Given the description of an element on the screen output the (x, y) to click on. 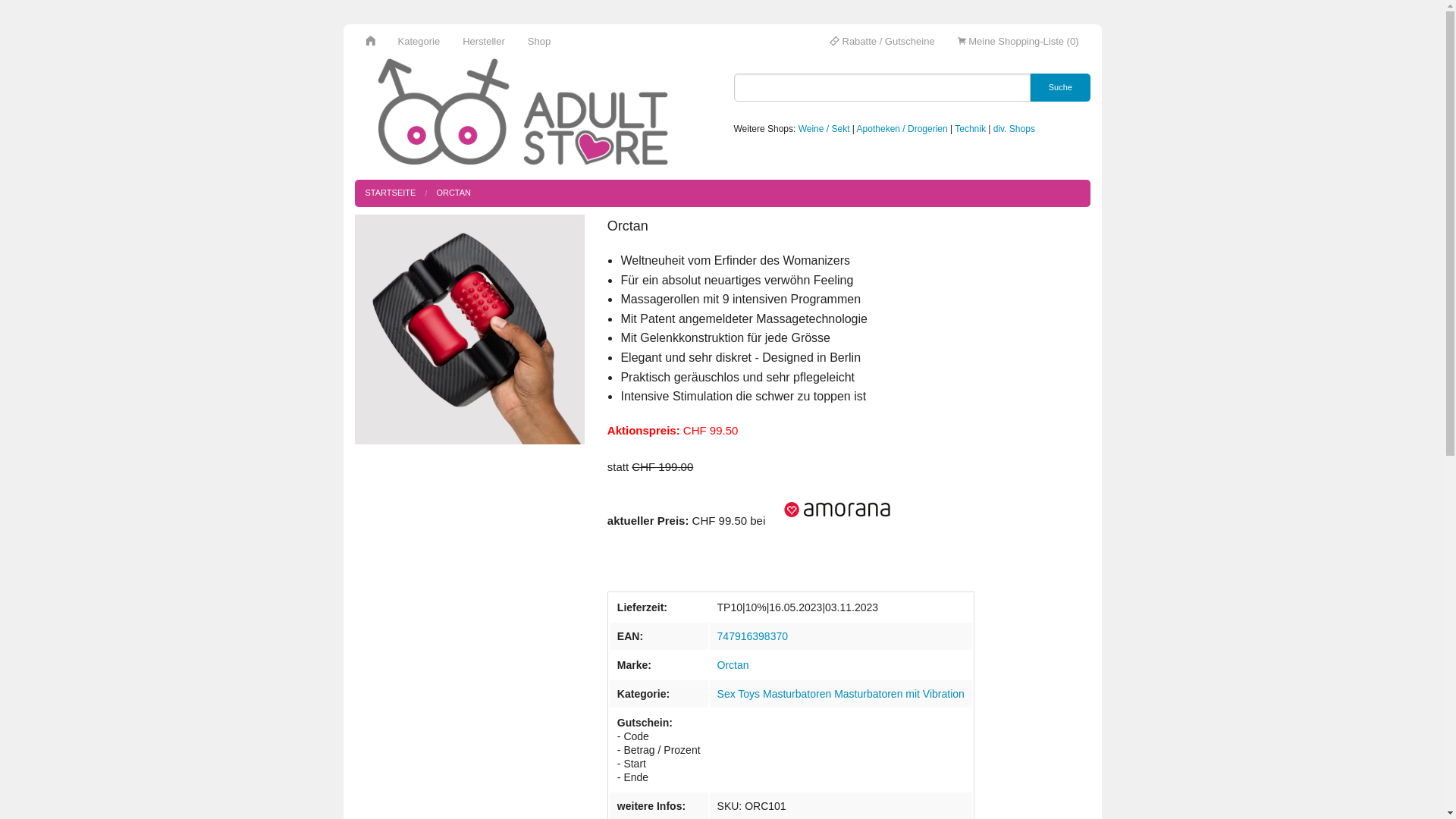
ORCTAN Element type: text (453, 192)
STARTSEITE Element type: text (390, 192)
      Element type: text (829, 520)
747916398370 Element type: text (752, 636)
Hersteller Element type: text (483, 41)
Shop Element type: text (538, 41)
div. Shops Element type: text (1014, 128)
Weine / Sekt Element type: text (824, 128)
Technik Element type: text (969, 128)
Suche Element type: text (1059, 87)
Orctan Element type: text (733, 664)
Apotheken / Drogerien Element type: text (901, 128)
Kategorie Element type: text (418, 41)
Meine Shopping-Liste (0) Element type: text (1018, 41)
Sex Toys Masturbatoren Masturbatoren mit Vibration Element type: text (840, 693)
Rabatte / Gutscheine Element type: text (882, 41)
